Given the description of an element on the screen output the (x, y) to click on. 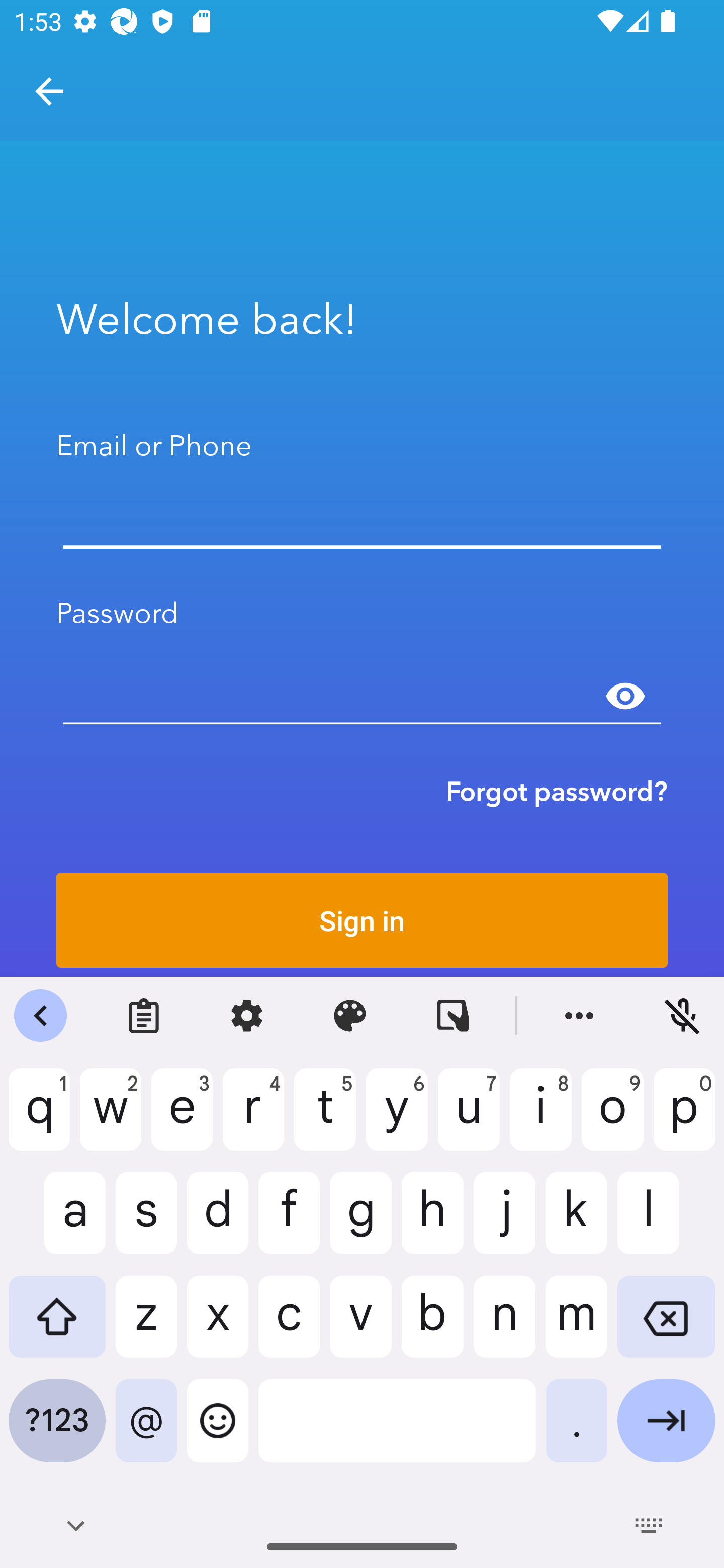
Navigate up (49, 91)
Show password (625, 695)
Forgot password? (556, 790)
Sign in (361, 920)
